Given the description of an element on the screen output the (x, y) to click on. 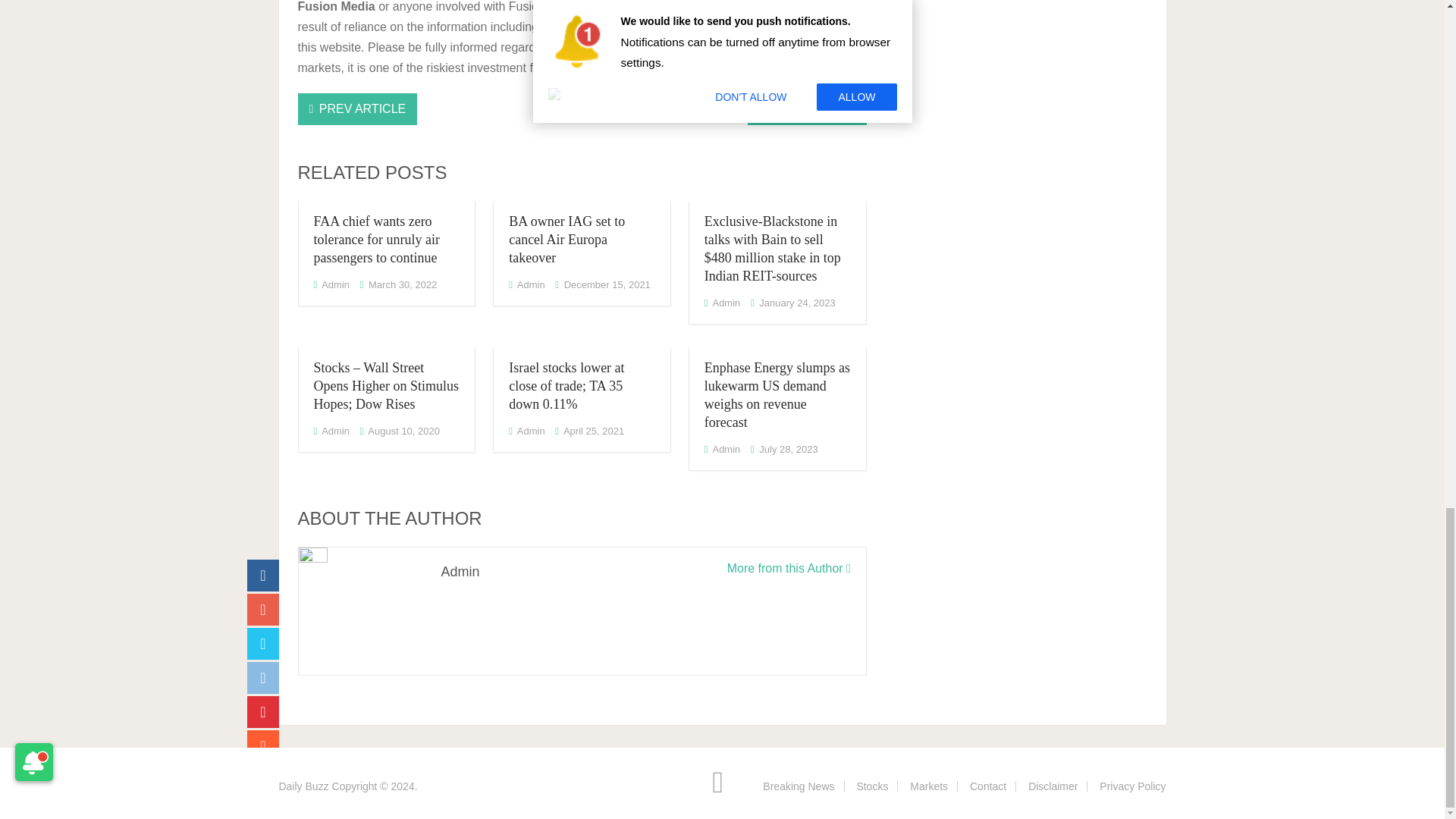
Admin (530, 284)
PREV ARTICLE (356, 109)
Posts by admin (335, 430)
NEXT ARTICLE (807, 109)
Posts by admin (725, 302)
Admin (725, 302)
Posts by admin (335, 284)
Admin (335, 284)
